Given the description of an element on the screen output the (x, y) to click on. 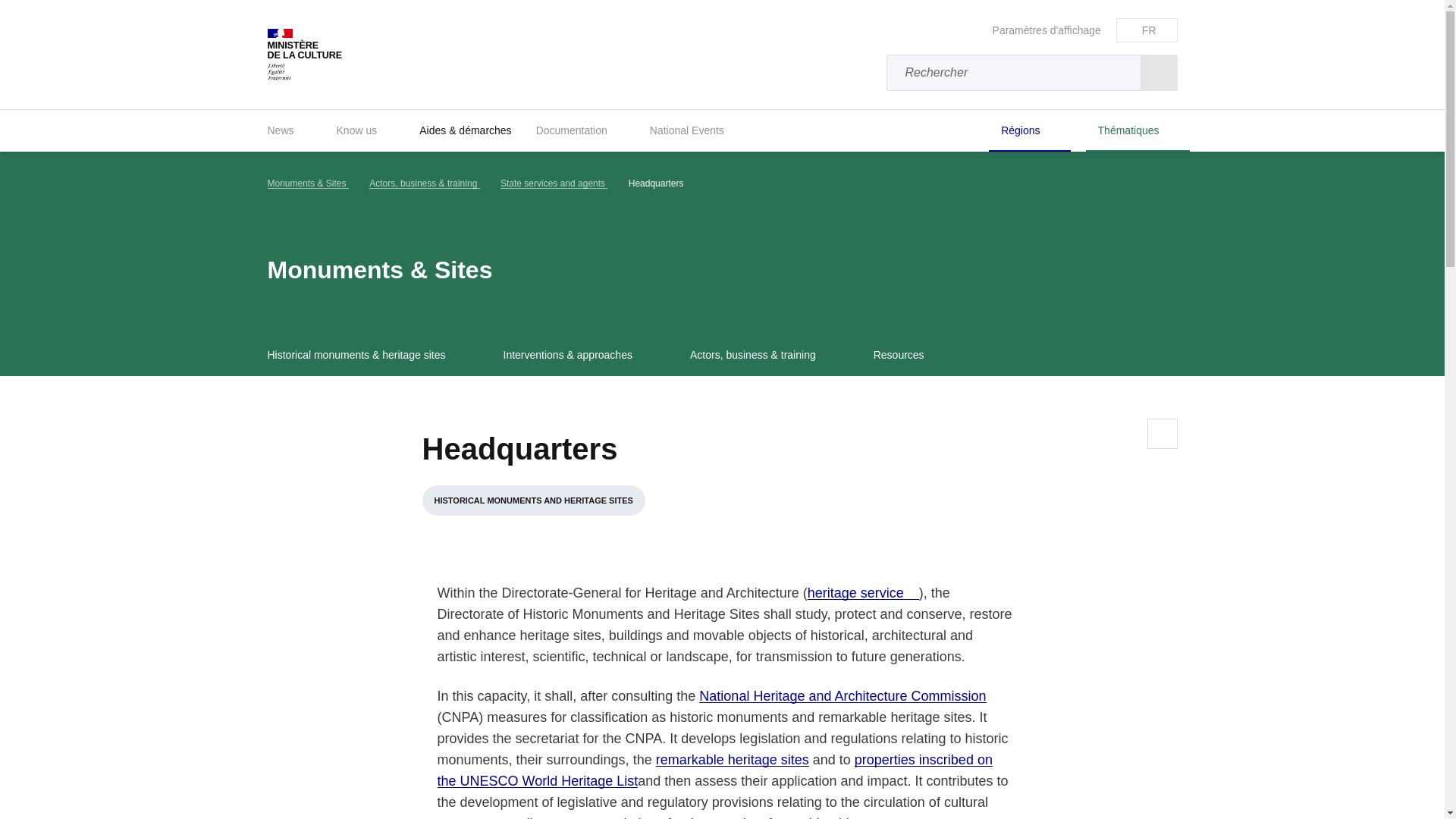
Know us (365, 129)
Search... (1158, 72)
News (288, 129)
Search... (1158, 72)
FR (1146, 30)
